Given the description of an element on the screen output the (x, y) to click on. 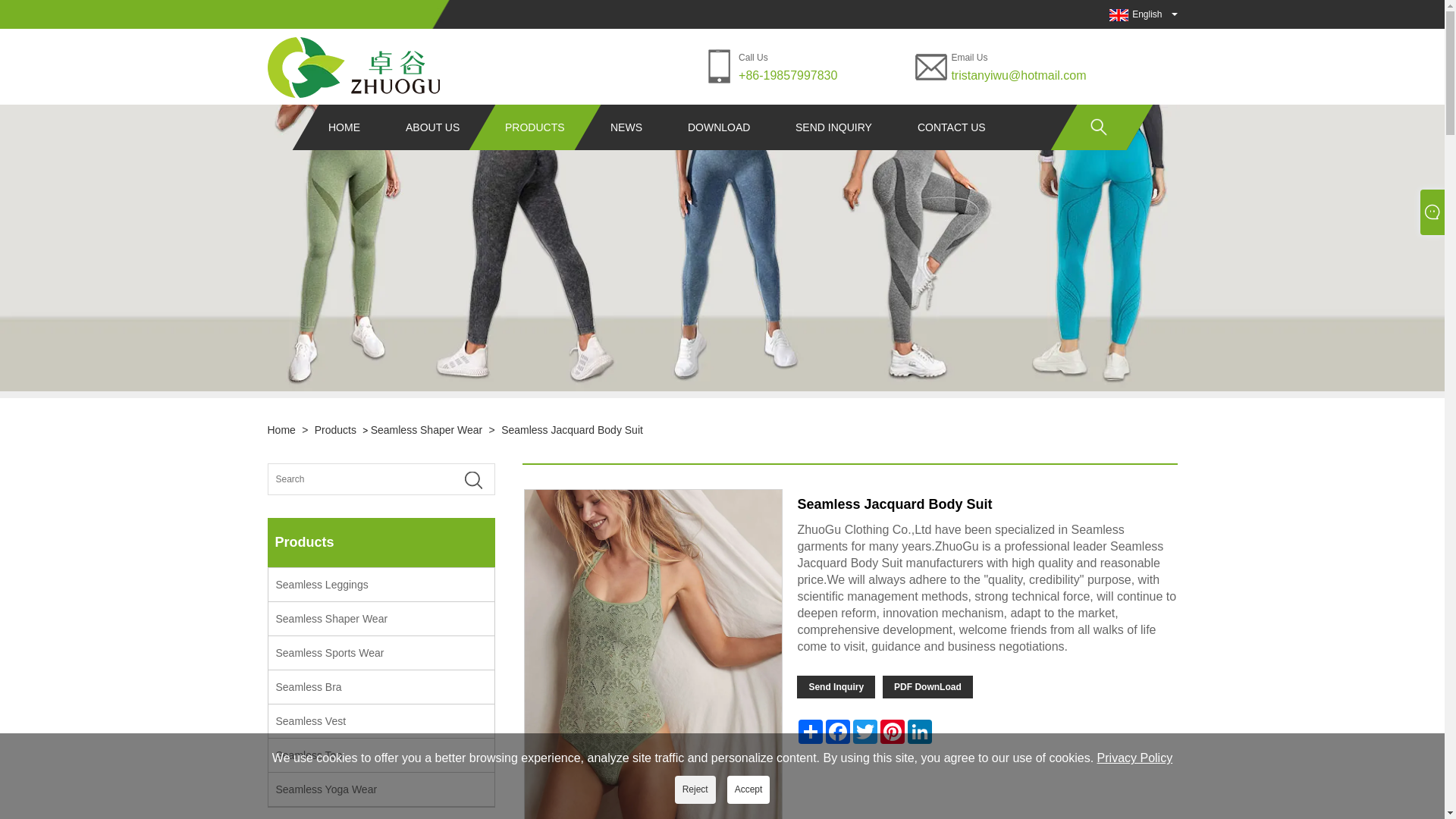
ABOUT US (431, 126)
English (1118, 15)
PRODUCTS (534, 126)
English (1135, 14)
English (1135, 14)
